Given the description of an element on the screen output the (x, y) to click on. 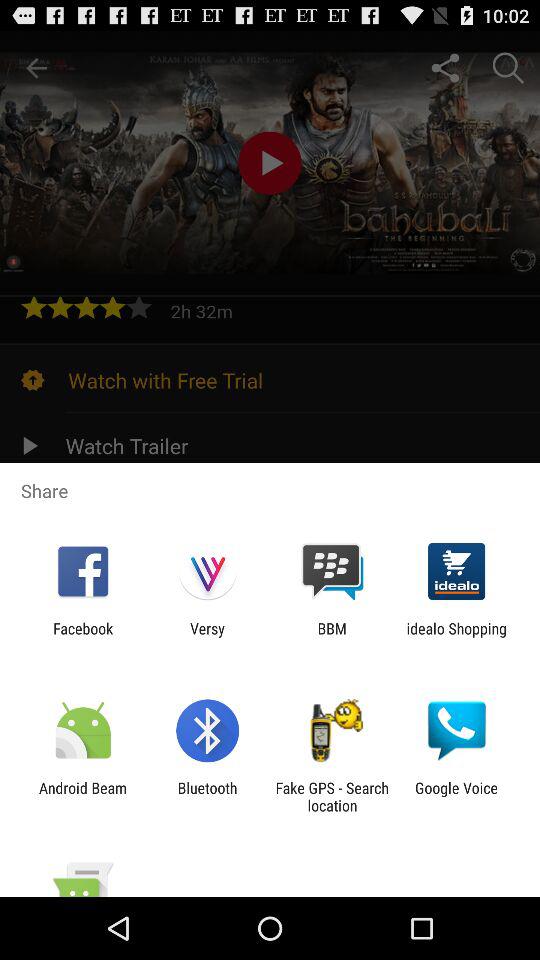
jump until bbm icon (331, 637)
